Given the description of an element on the screen output the (x, y) to click on. 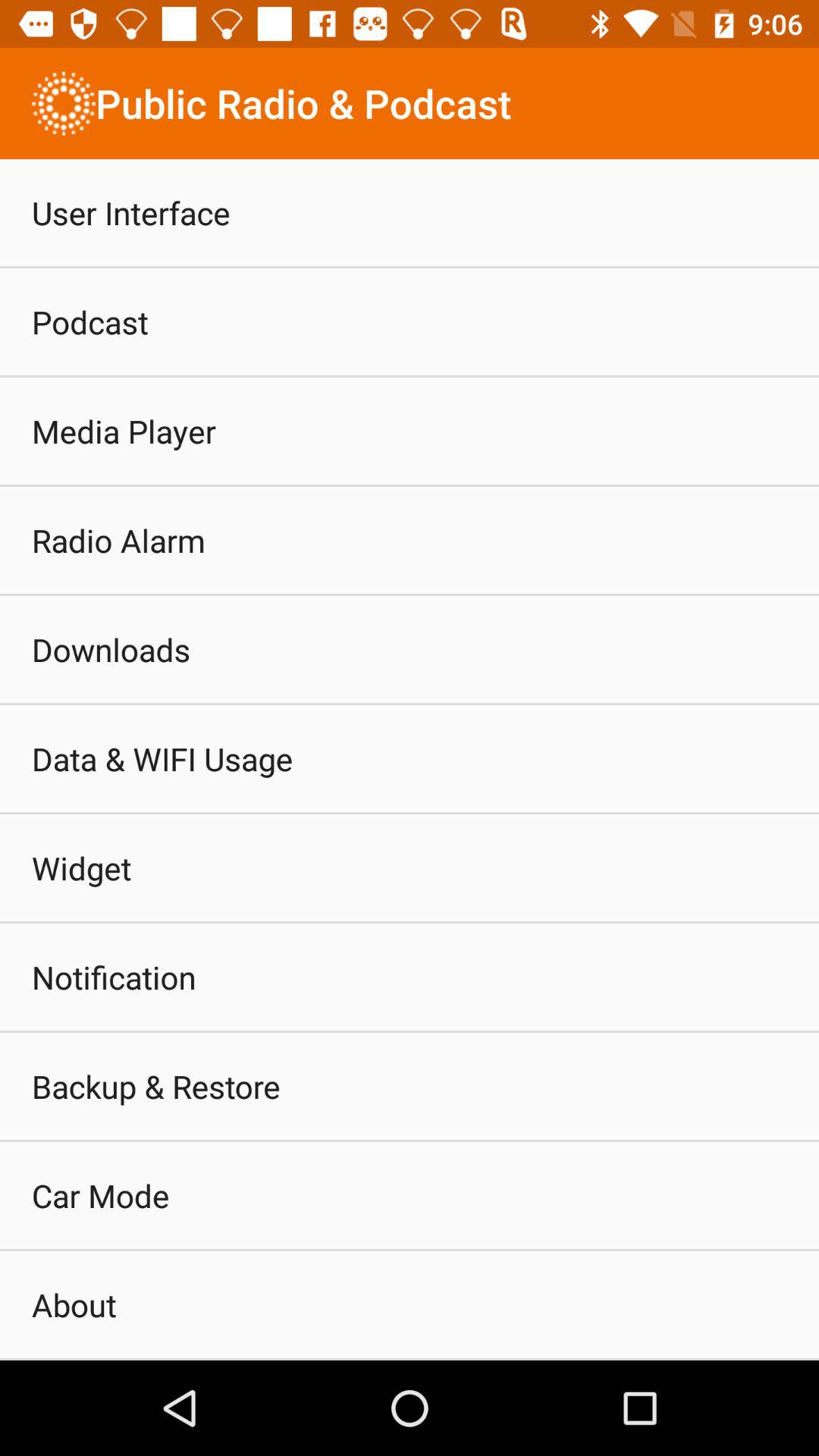
scroll until the widget icon (81, 867)
